Given the description of an element on the screen output the (x, y) to click on. 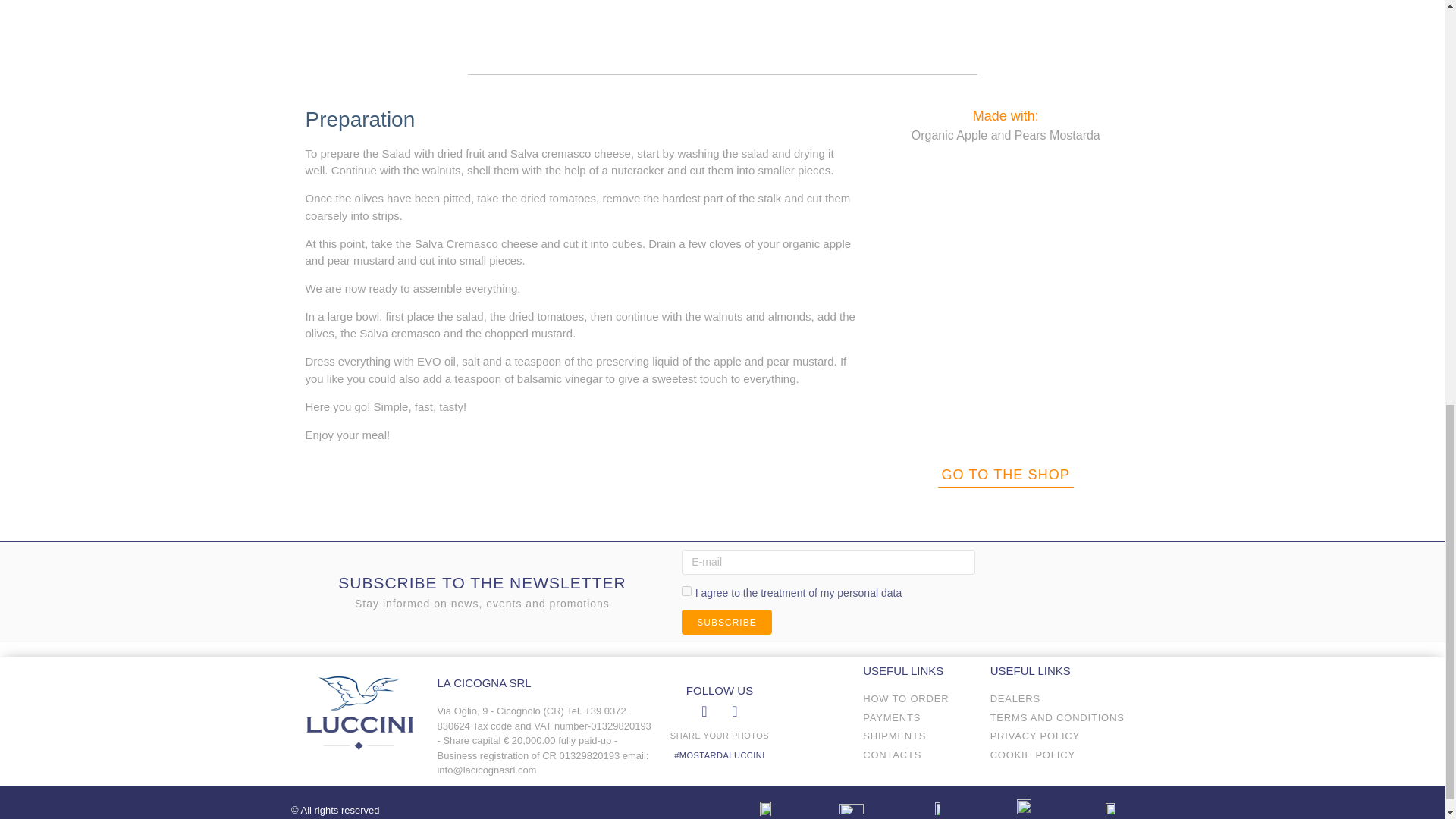
PAYMENTS (918, 717)
TERMS AND CONDITIONS (1059, 717)
on (686, 591)
COOKIE POLICY (1059, 754)
SHIPMENTS (918, 735)
7. MelePere240 (1005, 300)
GO TO THE SHOP (1005, 475)
PRIVACY POLICY (1059, 735)
HOW TO ORDER (918, 698)
CONTACTS (918, 754)
